Given the description of an element on the screen output the (x, y) to click on. 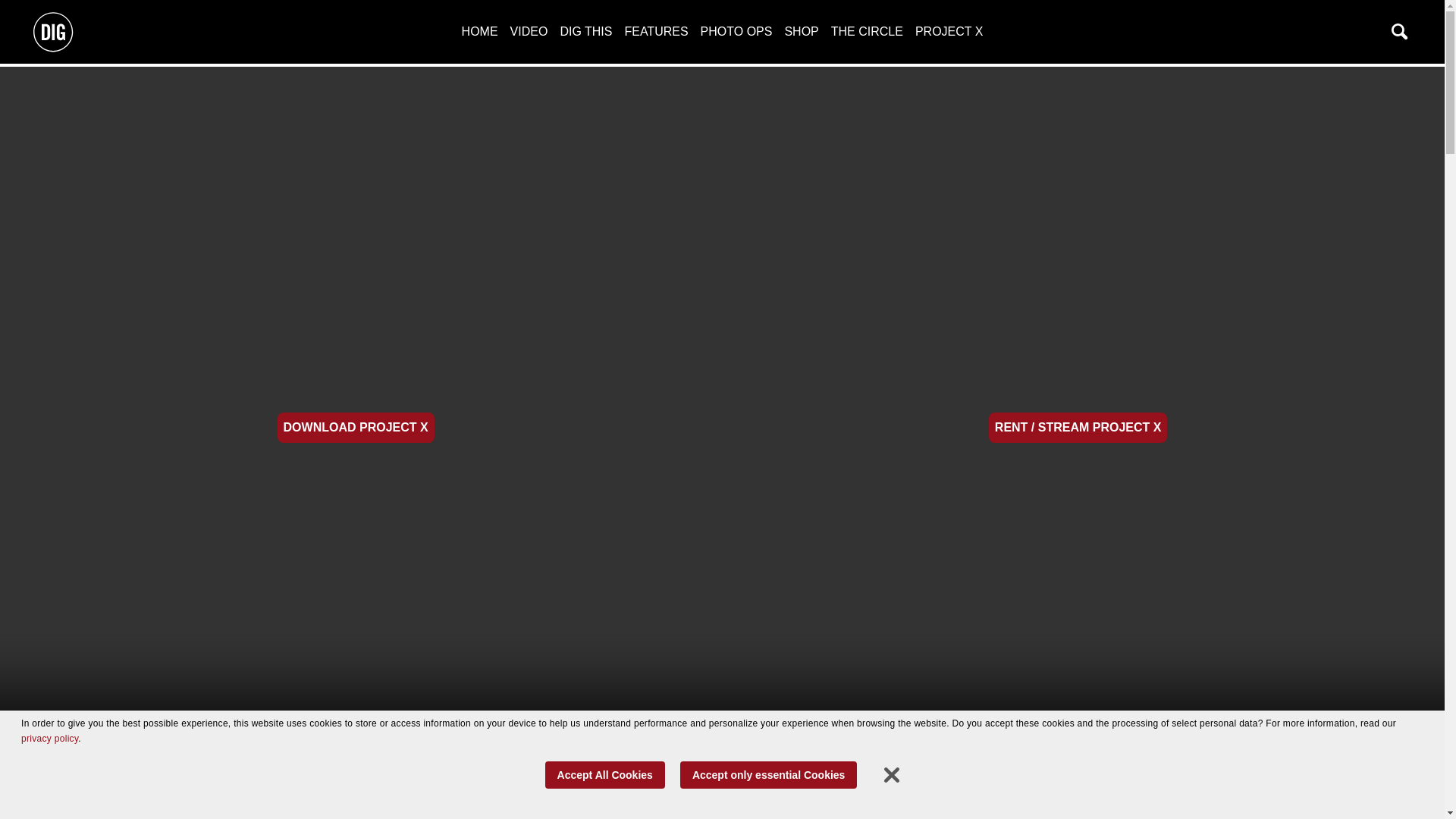
VIDEO (528, 31)
DOWNLOAD PROJECT X (355, 427)
FEATURES (655, 31)
DIG THIS (585, 31)
HOME (479, 31)
PROJECT X (949, 31)
THE CIRCLE (866, 31)
PHOTO OPS (736, 31)
SHOP (800, 31)
